Given the description of an element on the screen output the (x, y) to click on. 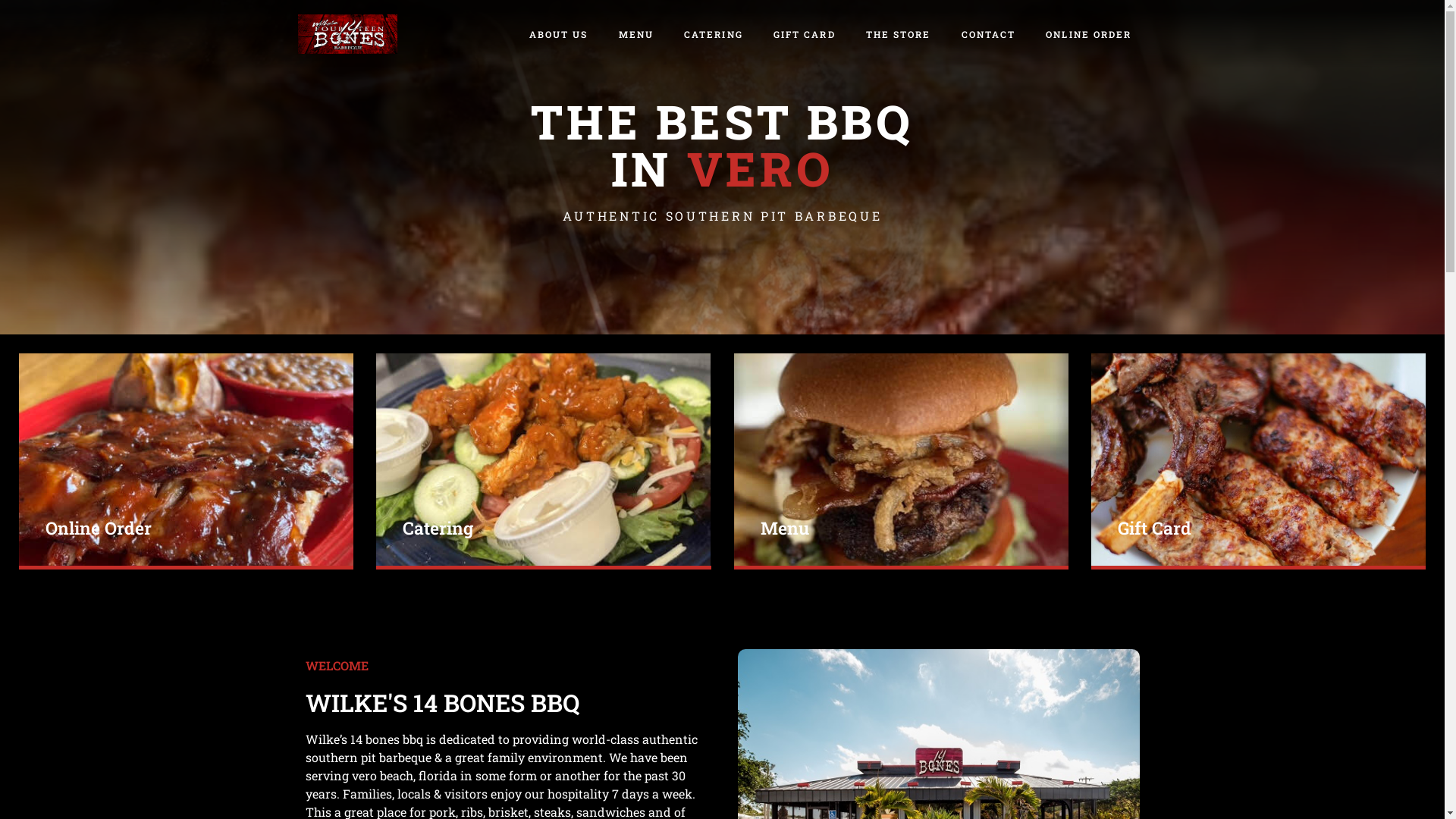
CONTACT Element type: text (988, 33)
Gift Card Element type: text (1258, 459)
MENU Element type: text (635, 33)
Catering Element type: text (543, 459)
GIFT CARD Element type: text (804, 33)
CATERING Element type: text (713, 33)
THE STORE Element type: text (898, 33)
Online Order Element type: text (185, 459)
ABOUT US Element type: text (558, 33)
Menu Element type: text (901, 459)
ONLINE ORDER Element type: text (1088, 33)
